Given the description of an element on the screen output the (x, y) to click on. 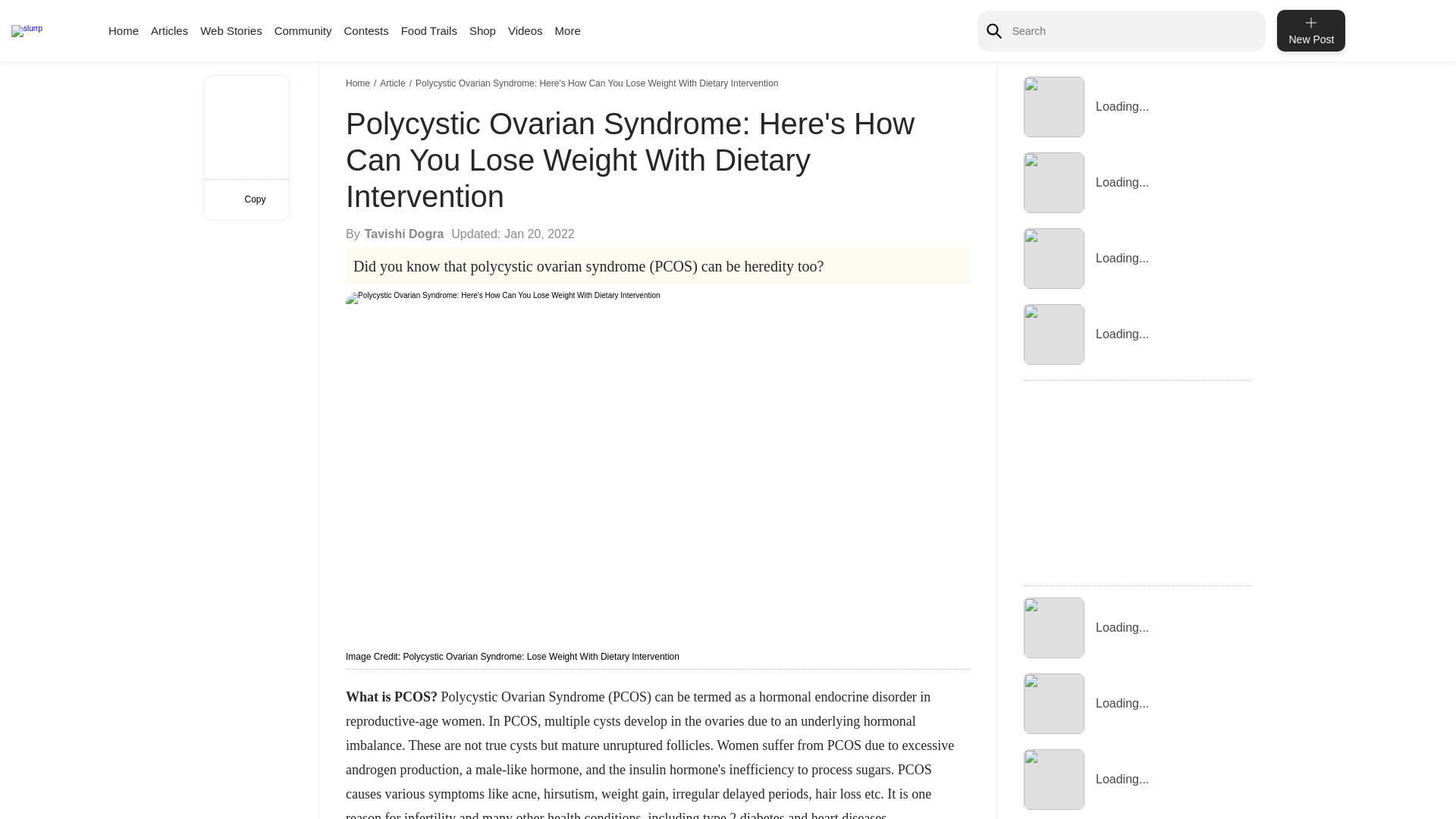
Articles (169, 30)
Community (303, 30)
Contests (365, 30)
Shop (482, 30)
Home (360, 82)
Article (394, 82)
Videos (525, 30)
Food Trails (429, 30)
Home (122, 30)
New Post (1310, 30)
